Given the description of an element on the screen output the (x, y) to click on. 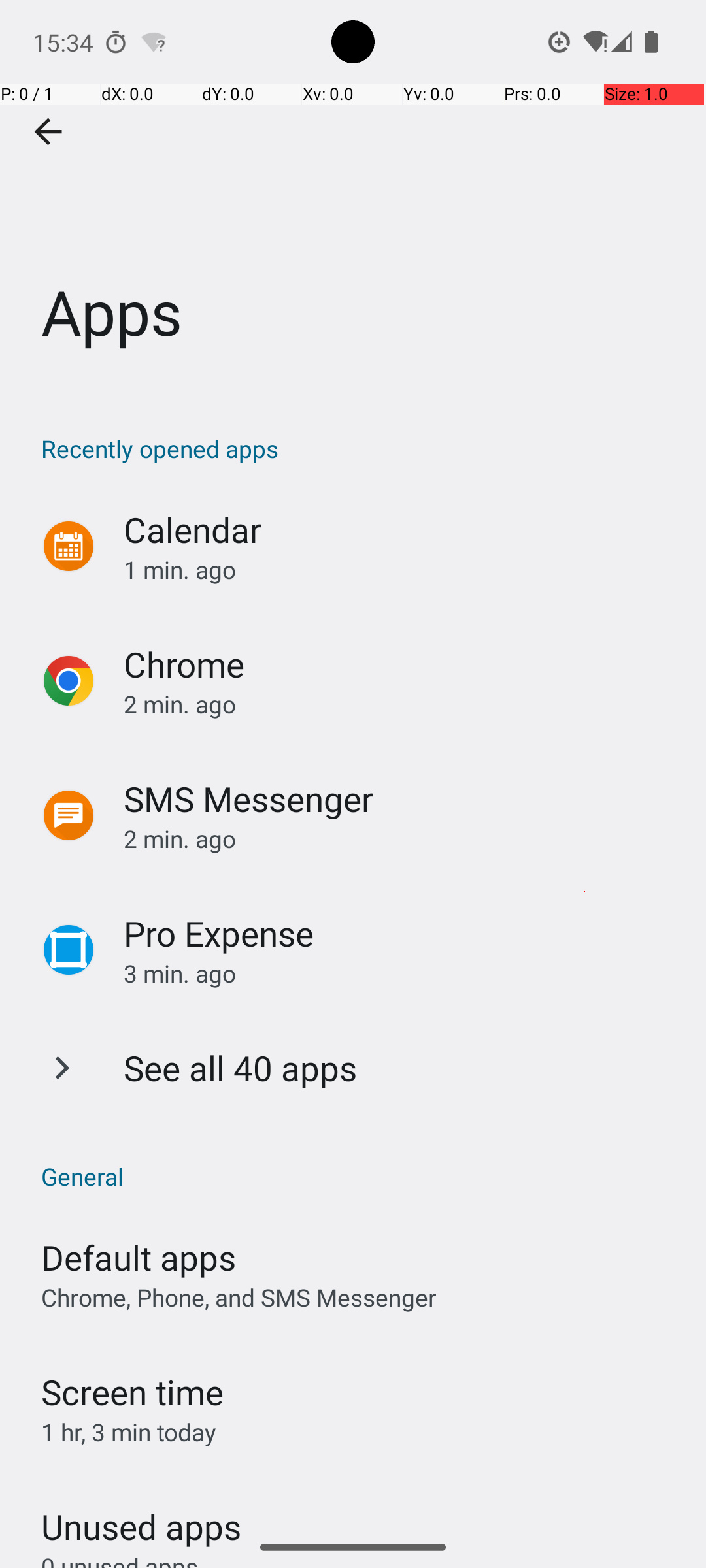
See all 40 apps Element type: android.widget.TextView (239, 1067)
1 hr, 3 min today Element type: android.widget.TextView (129, 1431)
